Given the description of an element on the screen output the (x, y) to click on. 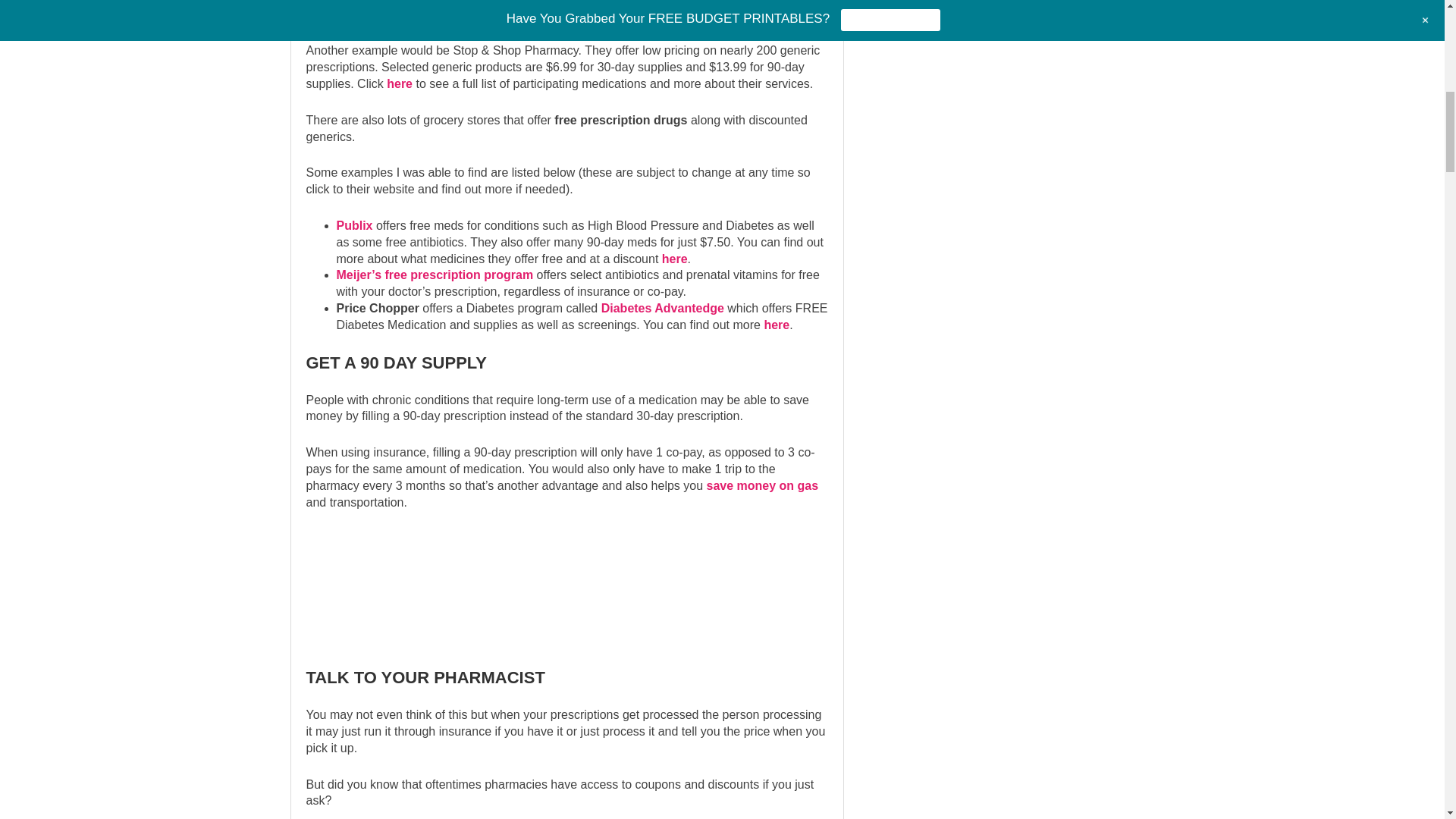
Diabetes Advantedge (662, 308)
here (318, 14)
Publix (354, 225)
here (674, 258)
here (399, 83)
save money on gas (762, 485)
here (775, 324)
